Given the description of an element on the screen output the (x, y) to click on. 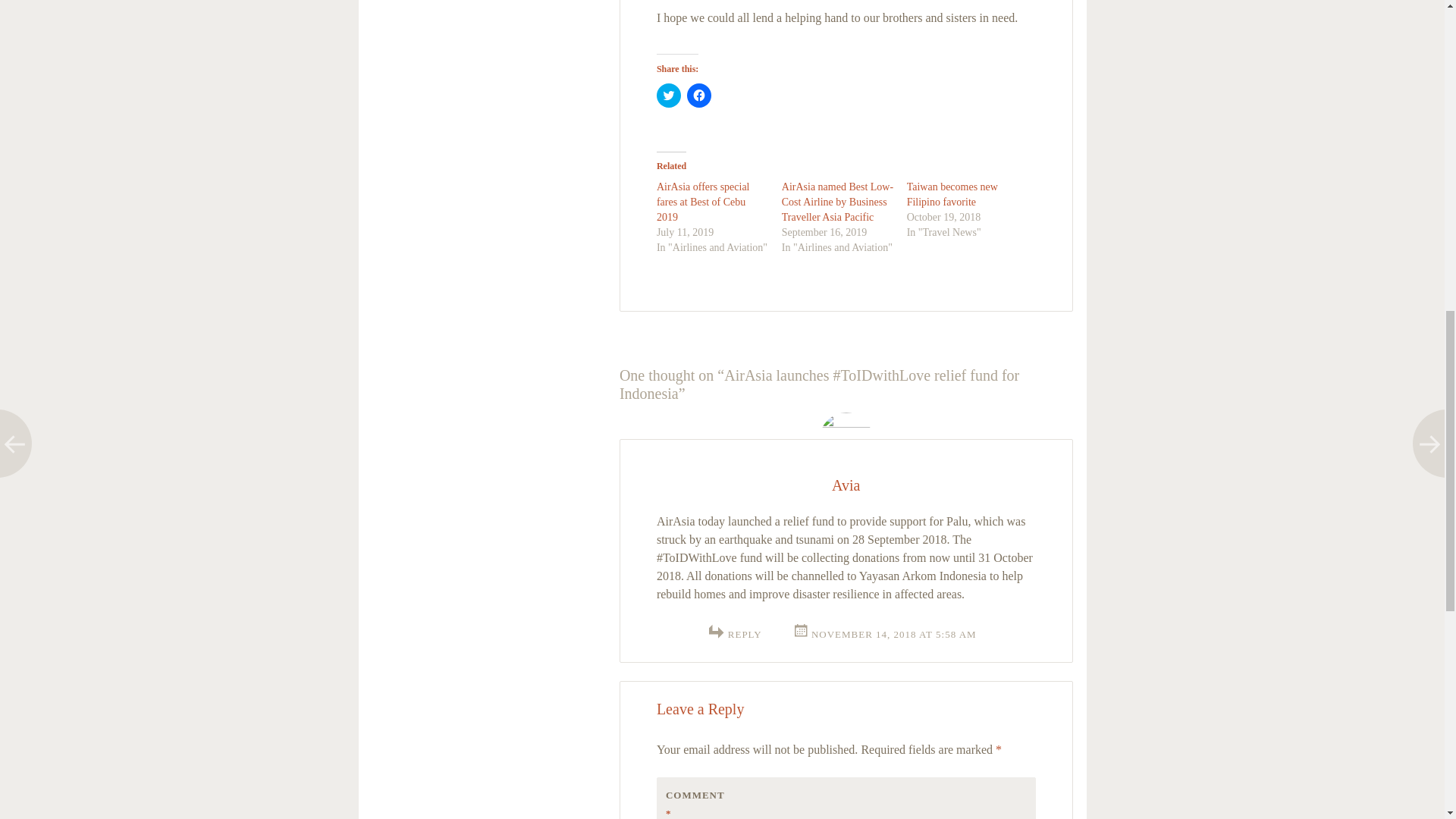
REPLY (744, 633)
AirAsia offers special fares at Best of Cebu 2019 (702, 201)
AirAsia offers special fares at Best of Cebu 2019 (702, 201)
Click to share on Facebook (699, 95)
Avia (845, 484)
Click to share on Twitter (668, 95)
Taiwan becomes new Filipino favorite (952, 194)
Taiwan becomes new Filipino favorite (952, 194)
NOVEMBER 14, 2018 AT 5:58 AM (884, 633)
